Given the description of an element on the screen output the (x, y) to click on. 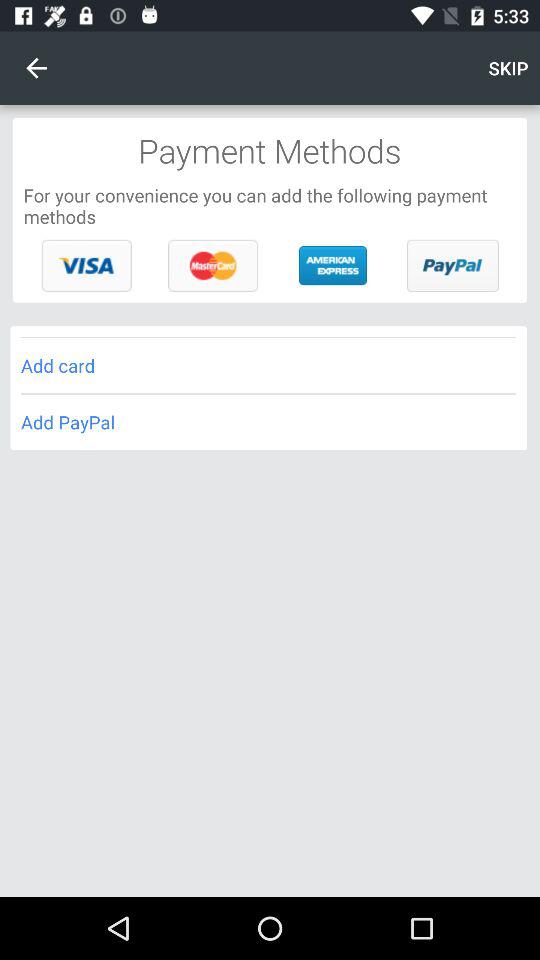
open skip item (508, 67)
